Given the description of an element on the screen output the (x, y) to click on. 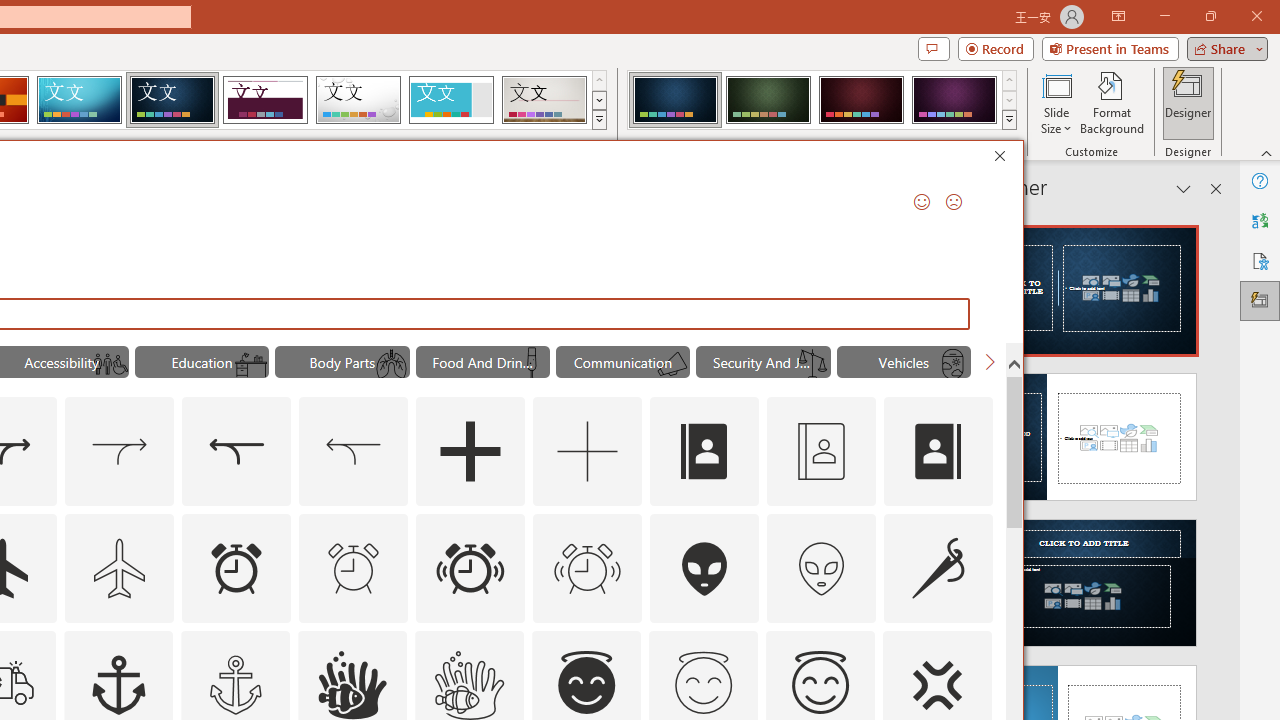
Droplet (358, 100)
AutomationID: Icons_Lungs_M (391, 364)
AutomationID: Icons_Champagne_M (532, 364)
AutomationID: Icons_Desk_M (250, 364)
"Food And Drinks" Icons. (483, 362)
AutomationID: Icons_UniversalAccess_M (111, 364)
AutomationID: Icons_PlaneWindow_M (952, 364)
Slide Size (1056, 102)
"Vehicles" Icons. (904, 362)
